Given the description of an element on the screen output the (x, y) to click on. 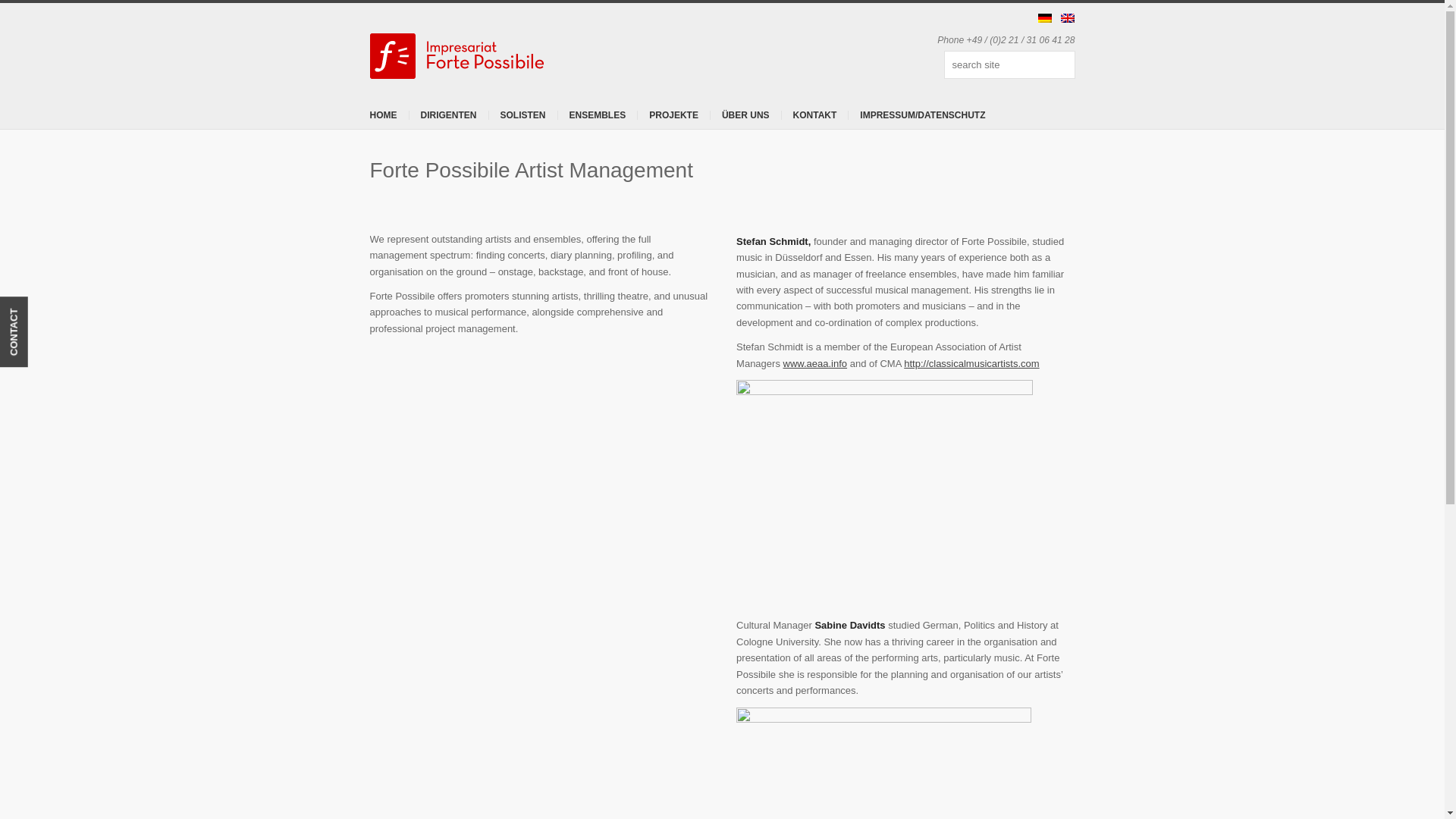
PROJEKTE (673, 114)
search site (1008, 64)
CONTACT (34, 311)
HOME (382, 114)
KONTAKT (814, 114)
ENSEMBLES (597, 114)
Deutsch (1044, 18)
English (1067, 18)
DIRIGENTEN (447, 114)
Facebook (900, 65)
